Given the description of an element on the screen output the (x, y) to click on. 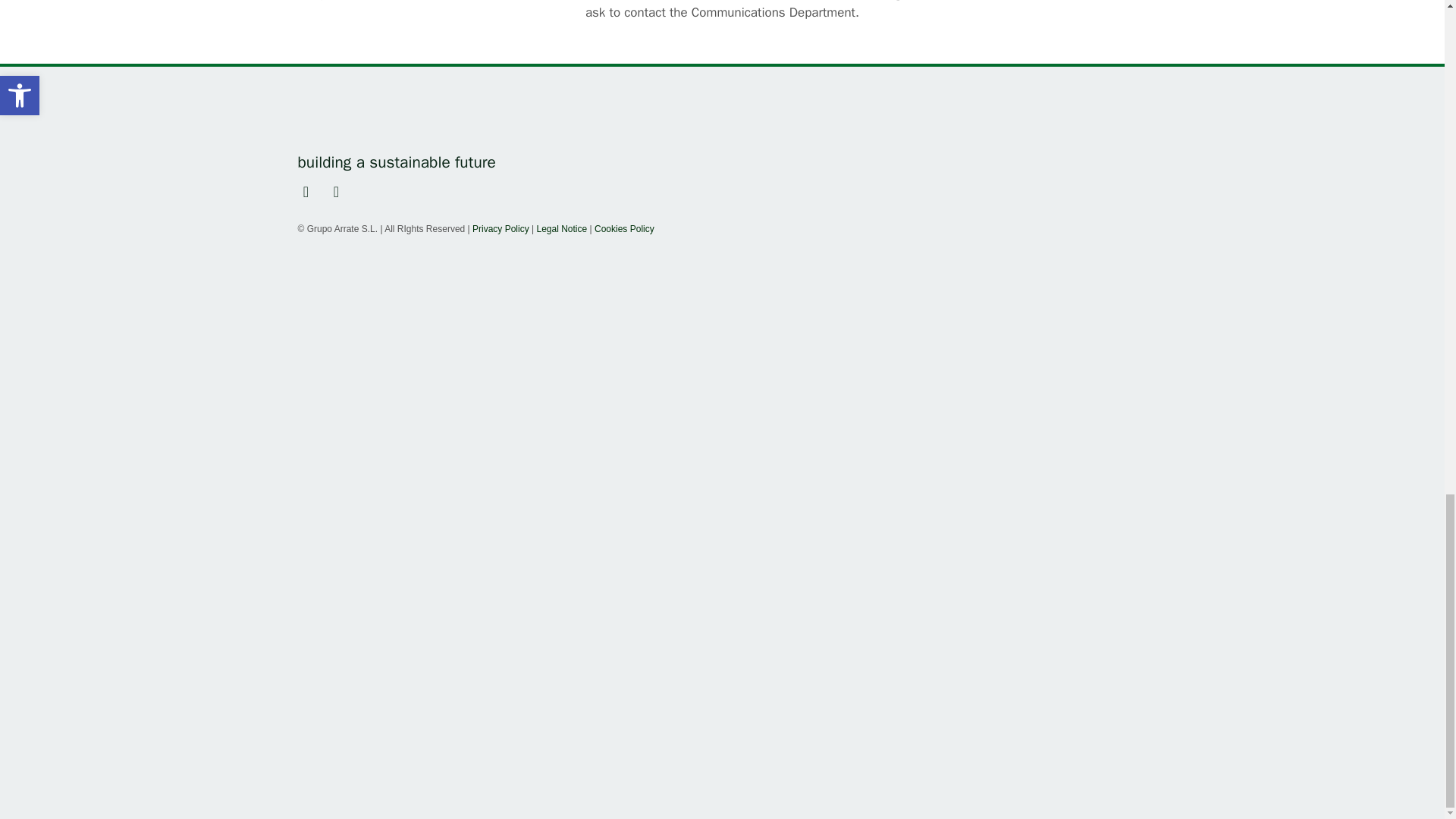
Scroll back to top (1406, 277)
